Given the description of an element on the screen output the (x, y) to click on. 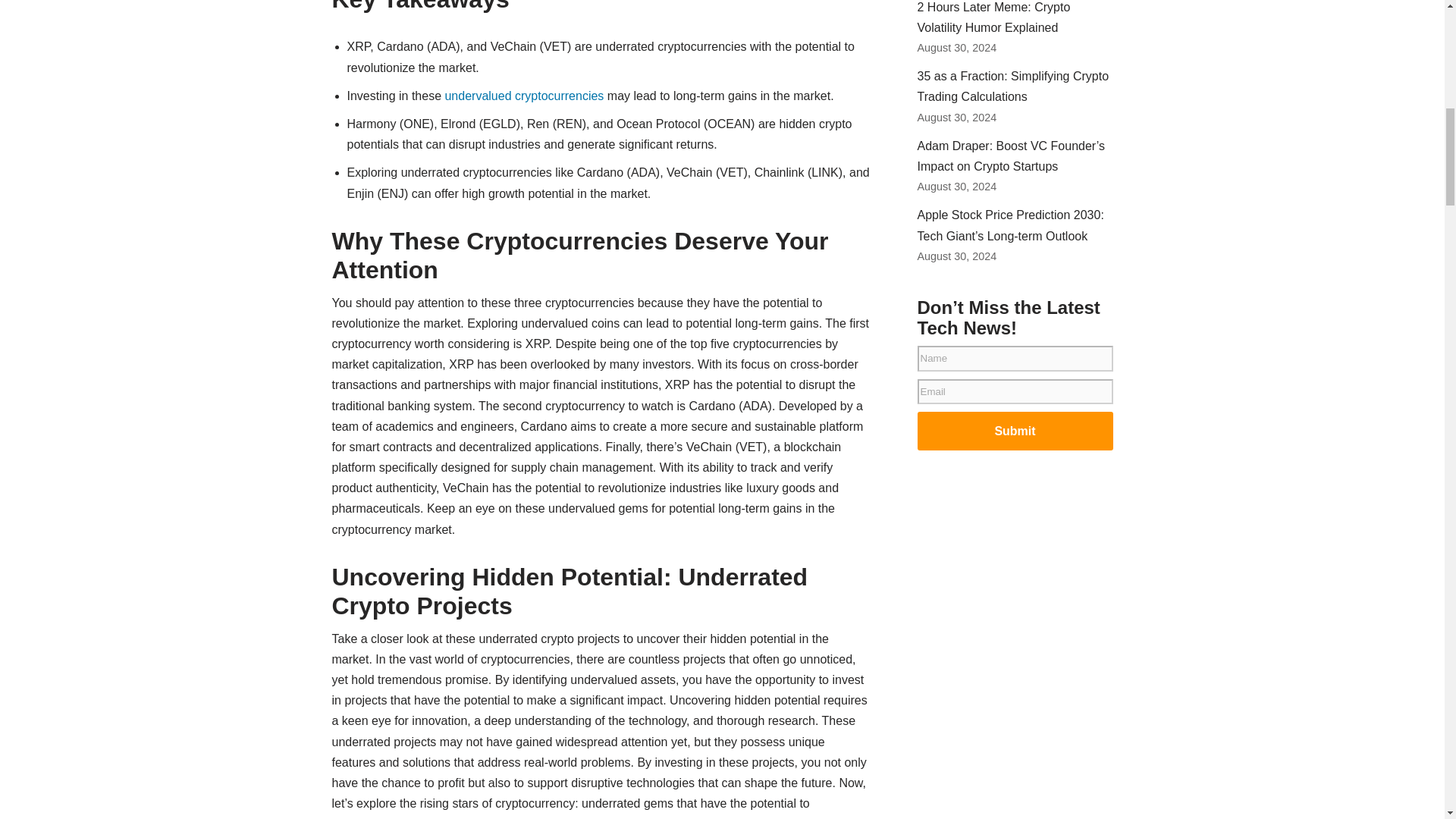
2 Hours Later Meme: Crypto Volatility Humor Explained (993, 17)
Submit (1015, 431)
undervalued cryptocurrencies (524, 95)
35 as a Fraction: Simplifying Crypto Trading Calculations (1013, 86)
Submit (1015, 431)
undervalued cryptocurrencies (524, 95)
